Given the description of an element on the screen output the (x, y) to click on. 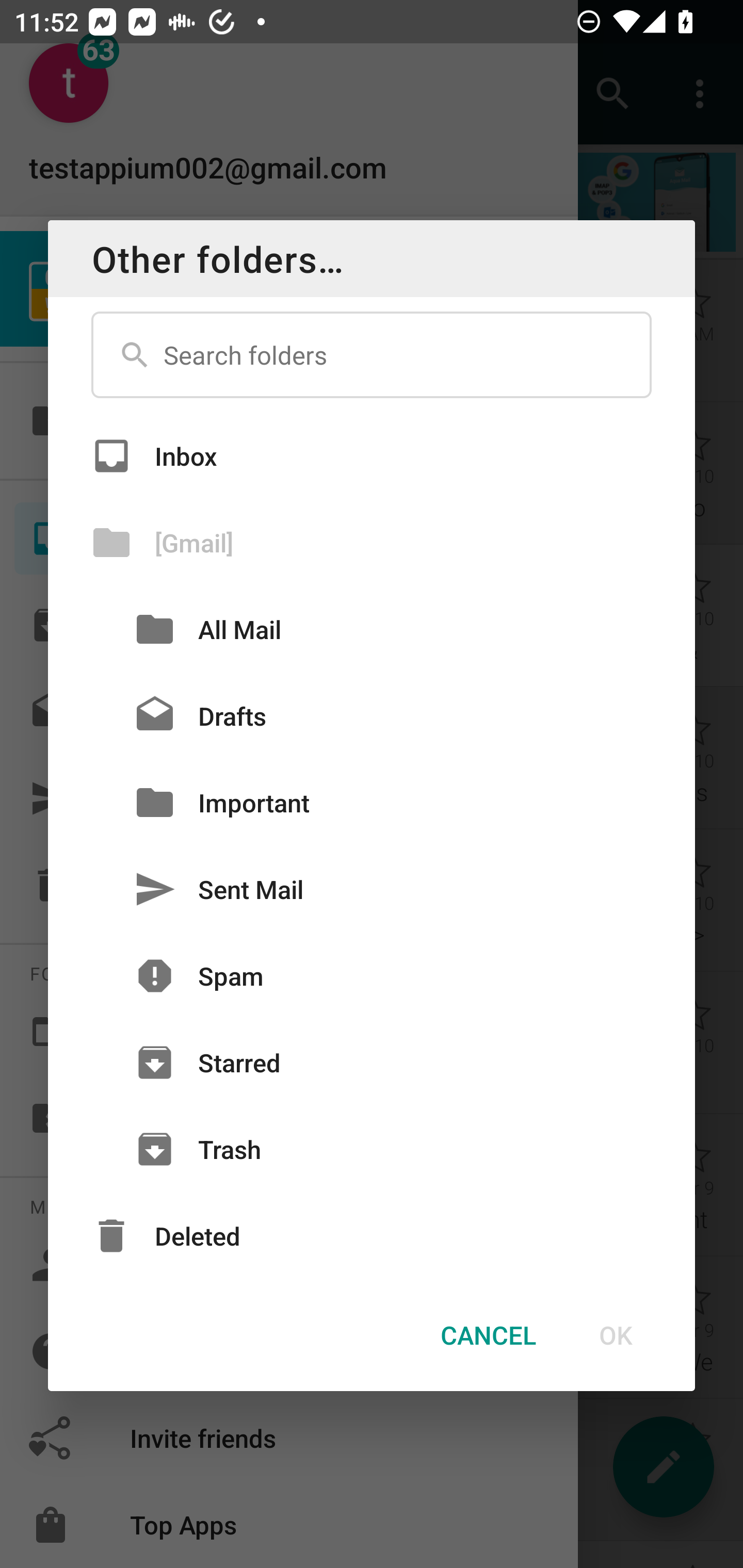
Inbox (371, 455)
All Mail (371, 629)
Drafts (371, 715)
Important (371, 801)
Sent Mail (371, 888)
Spam (371, 975)
Starred (371, 1062)
Trash (371, 1149)
Deleted (371, 1236)
CANCEL (488, 1334)
OK (615, 1334)
